Given the description of an element on the screen output the (x, y) to click on. 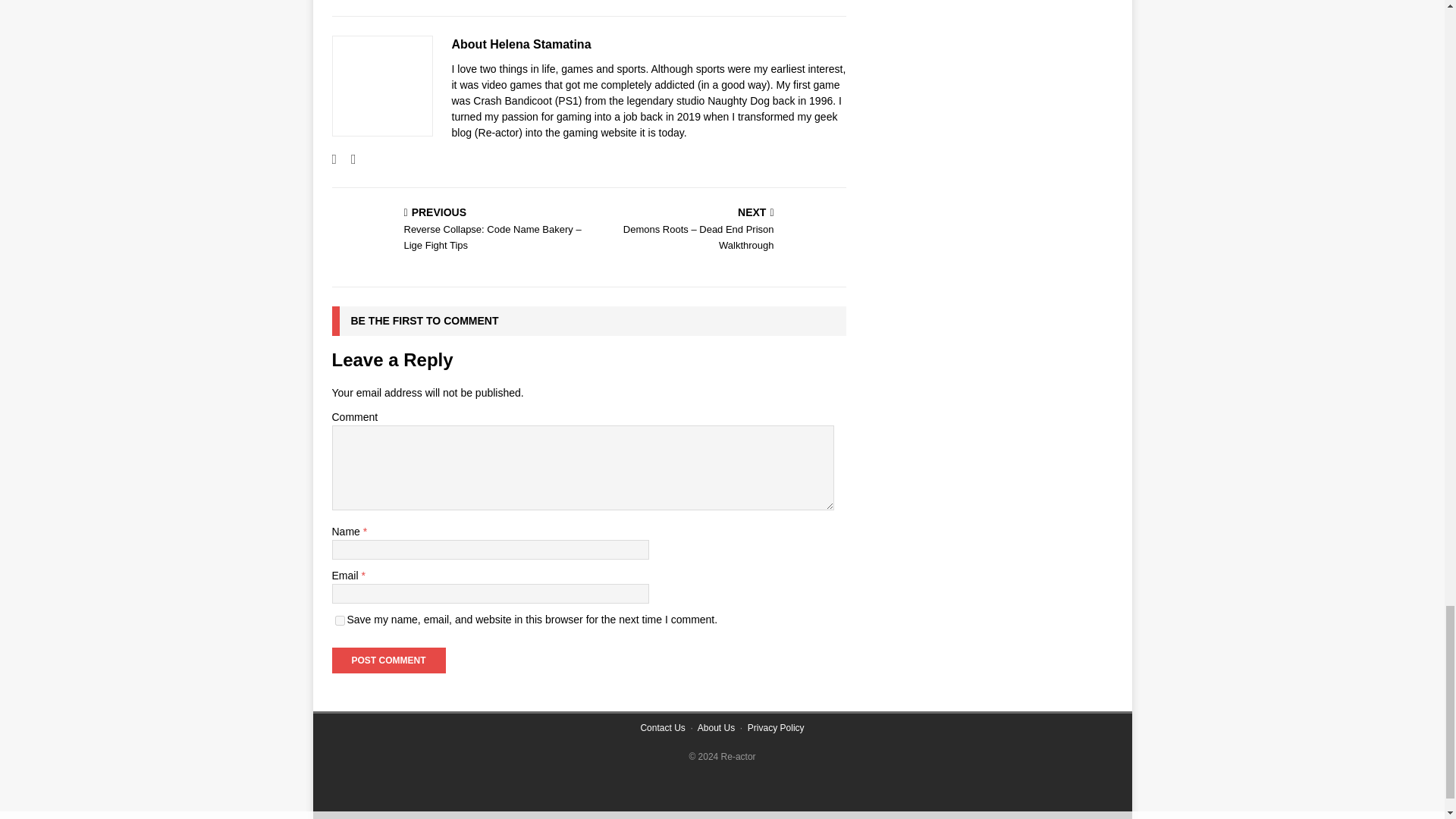
About Us (716, 727)
yes (339, 620)
Privacy Policy (776, 727)
Post Comment (388, 660)
Follow Helena Stamatina on Twitter (347, 159)
Post Comment (388, 660)
Contact Us (662, 727)
